Given the description of an element on the screen output the (x, y) to click on. 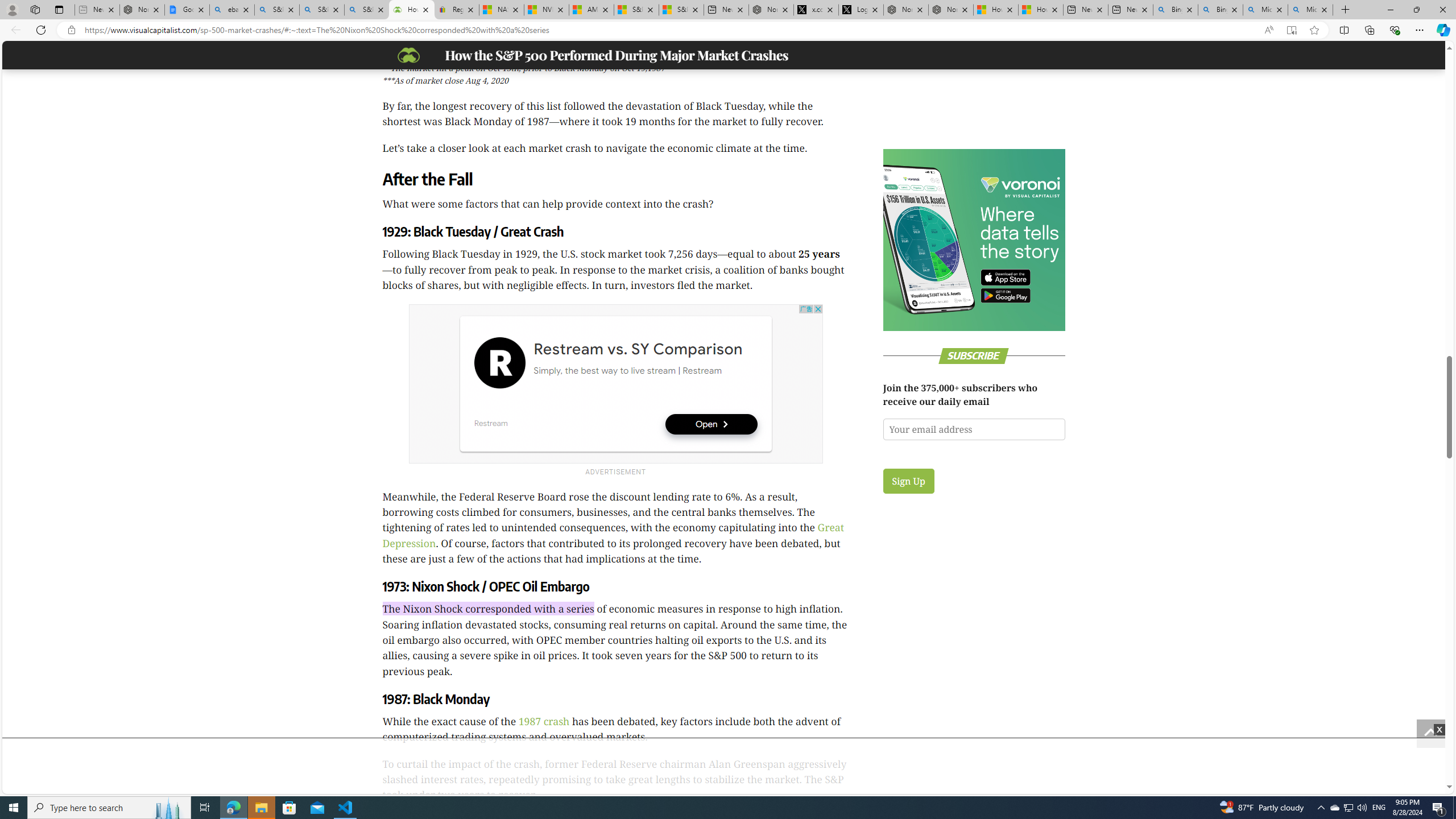
Log in to X / X (861, 9)
Google Docs: Online Document Editor | Google Workspace (187, 9)
Restream (490, 423)
Sign Up (908, 480)
